Given the description of an element on the screen output the (x, y) to click on. 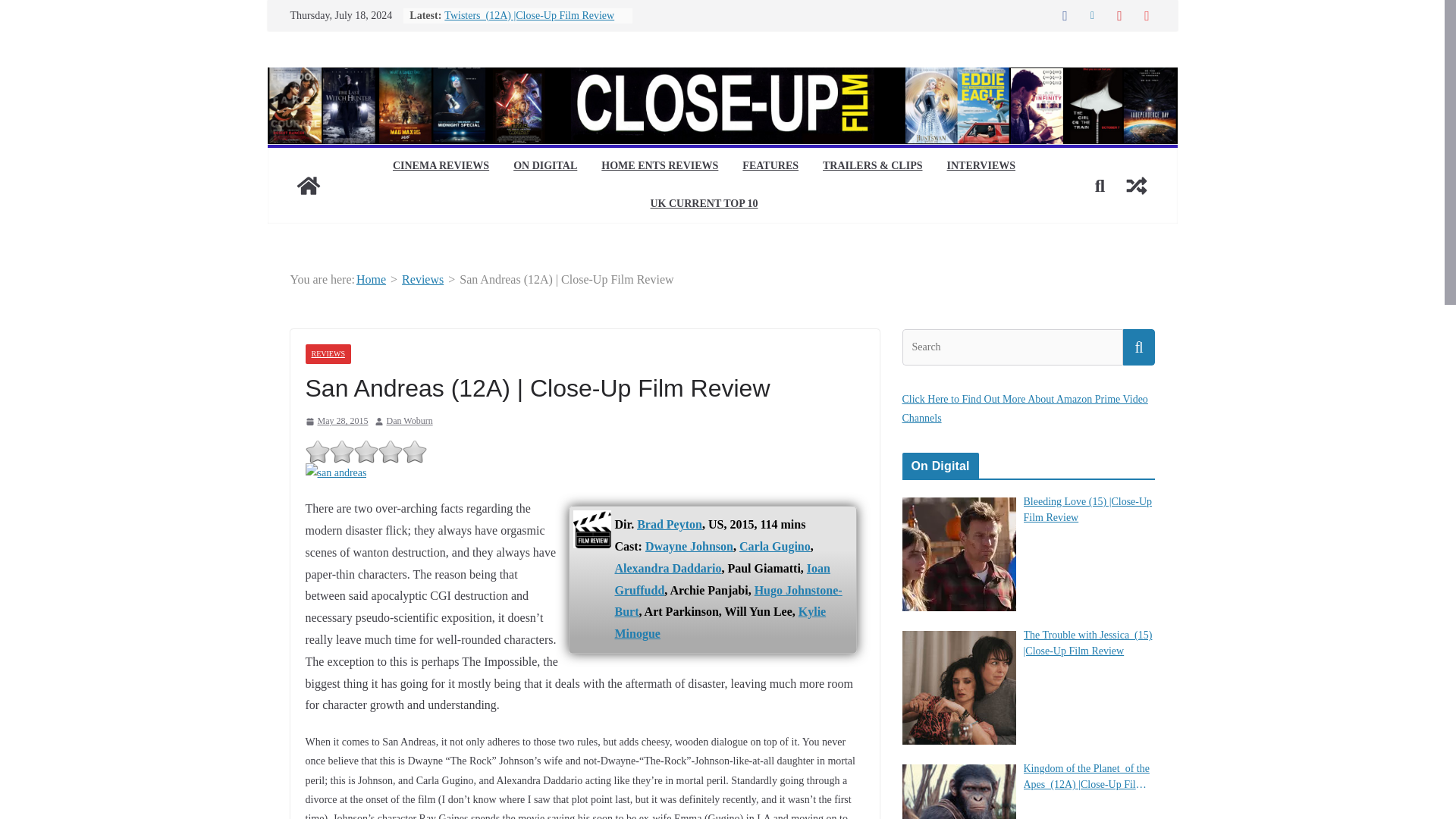
close-upfilm (307, 185)
Alexandra Daddario (667, 567)
Dan Woburn (409, 421)
May 28, 2015 (336, 421)
INTERVIEWS (980, 166)
10:36 am (336, 421)
Alexandra Daddario (667, 567)
View a random post (1136, 185)
Brad Peyton (669, 523)
Brad Peyton (669, 523)
ON DIGITAL (544, 166)
Kylie Minogue (719, 622)
Reviews (422, 278)
Carla Gugino (774, 545)
FEATURES (769, 166)
